Given the description of an element on the screen output the (x, y) to click on. 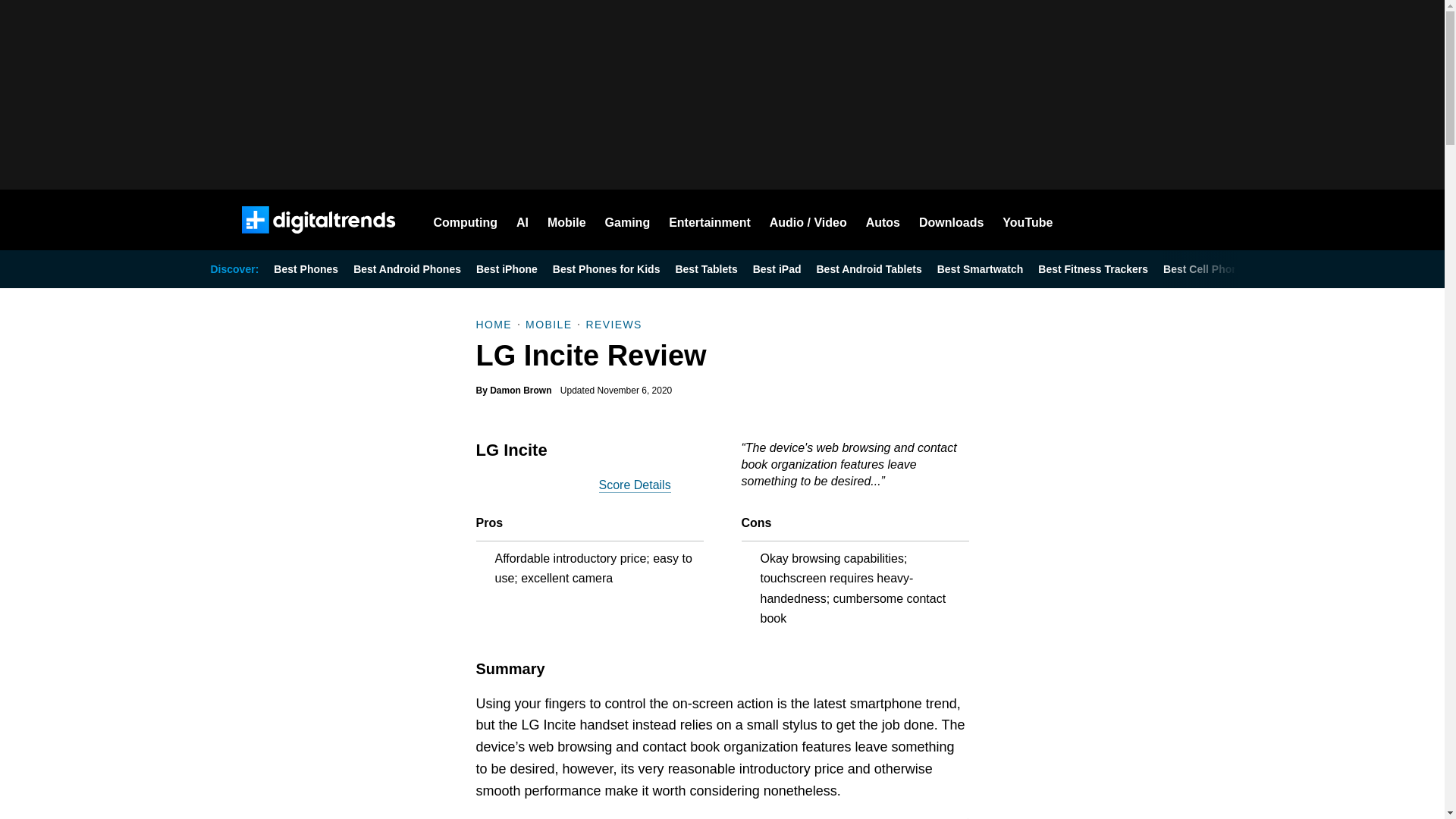
Downloads (951, 219)
Computing (465, 219)
Entertainment (709, 219)
